Given the description of an element on the screen output the (x, y) to click on. 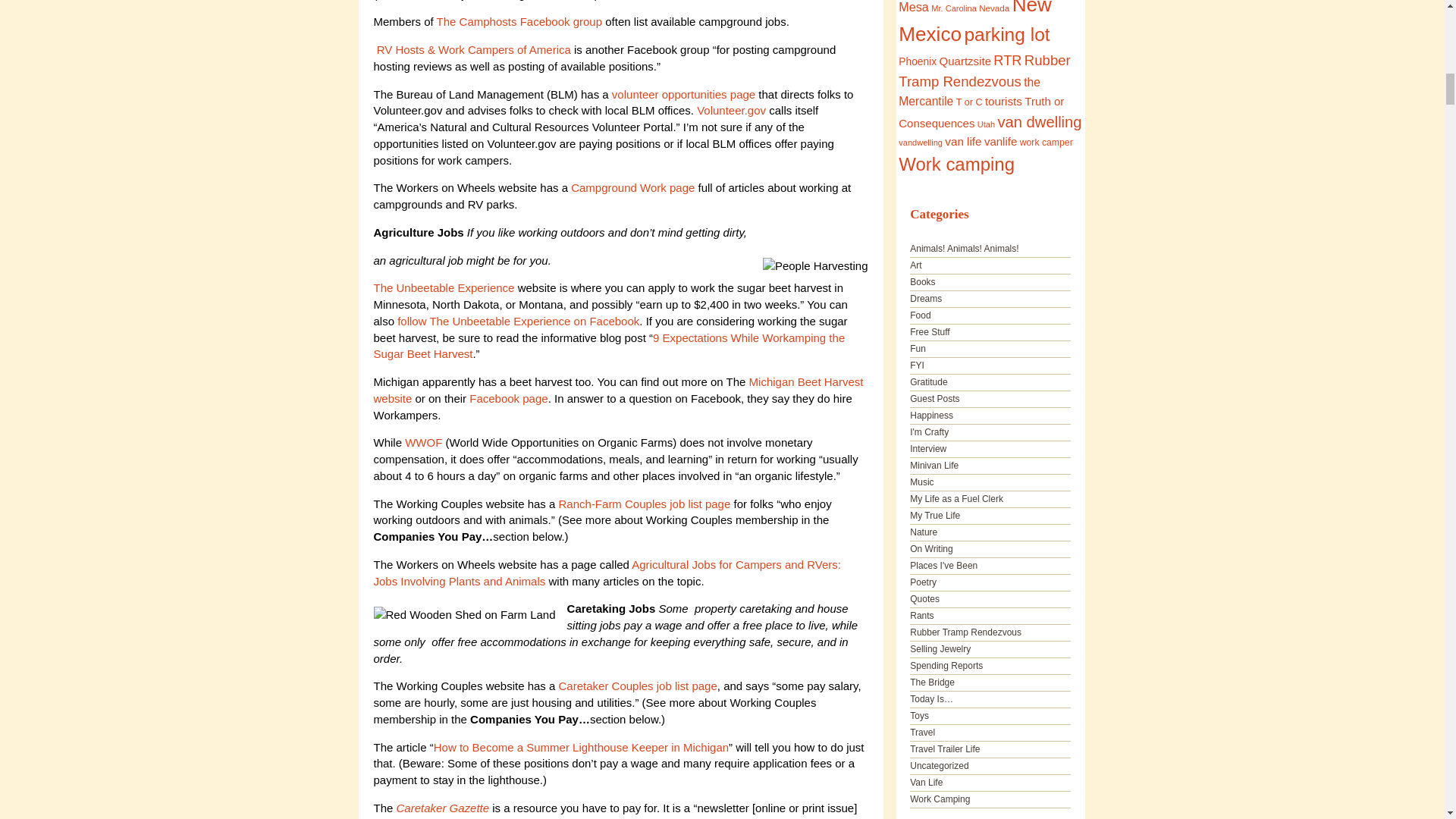
volunteer opportunities page (684, 93)
The Camphosts Facebook group (519, 21)
Volunteer.gov (731, 110)
